Given the description of an element on the screen output the (x, y) to click on. 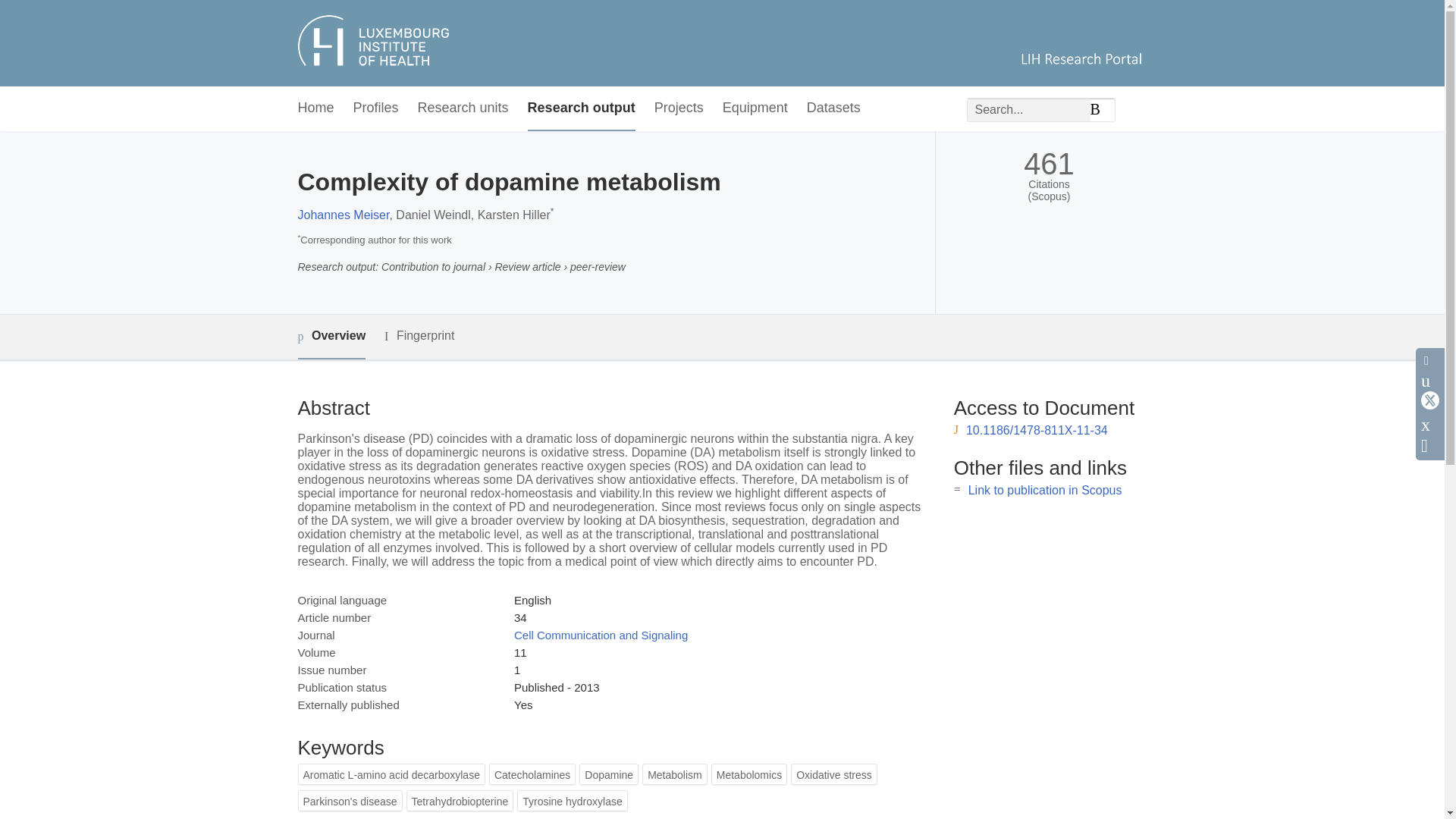
Link to publication in Scopus (1045, 490)
Profiles (375, 108)
Research units (462, 108)
Overview (331, 336)
Johannes Meiser (342, 214)
Cell Communication and Signaling (600, 634)
Research output (580, 108)
Equipment (754, 108)
Fingerprint (419, 335)
Projects (678, 108)
Datasets (833, 108)
Luxembourg Institute of Health Home (719, 43)
